Given the description of an element on the screen output the (x, y) to click on. 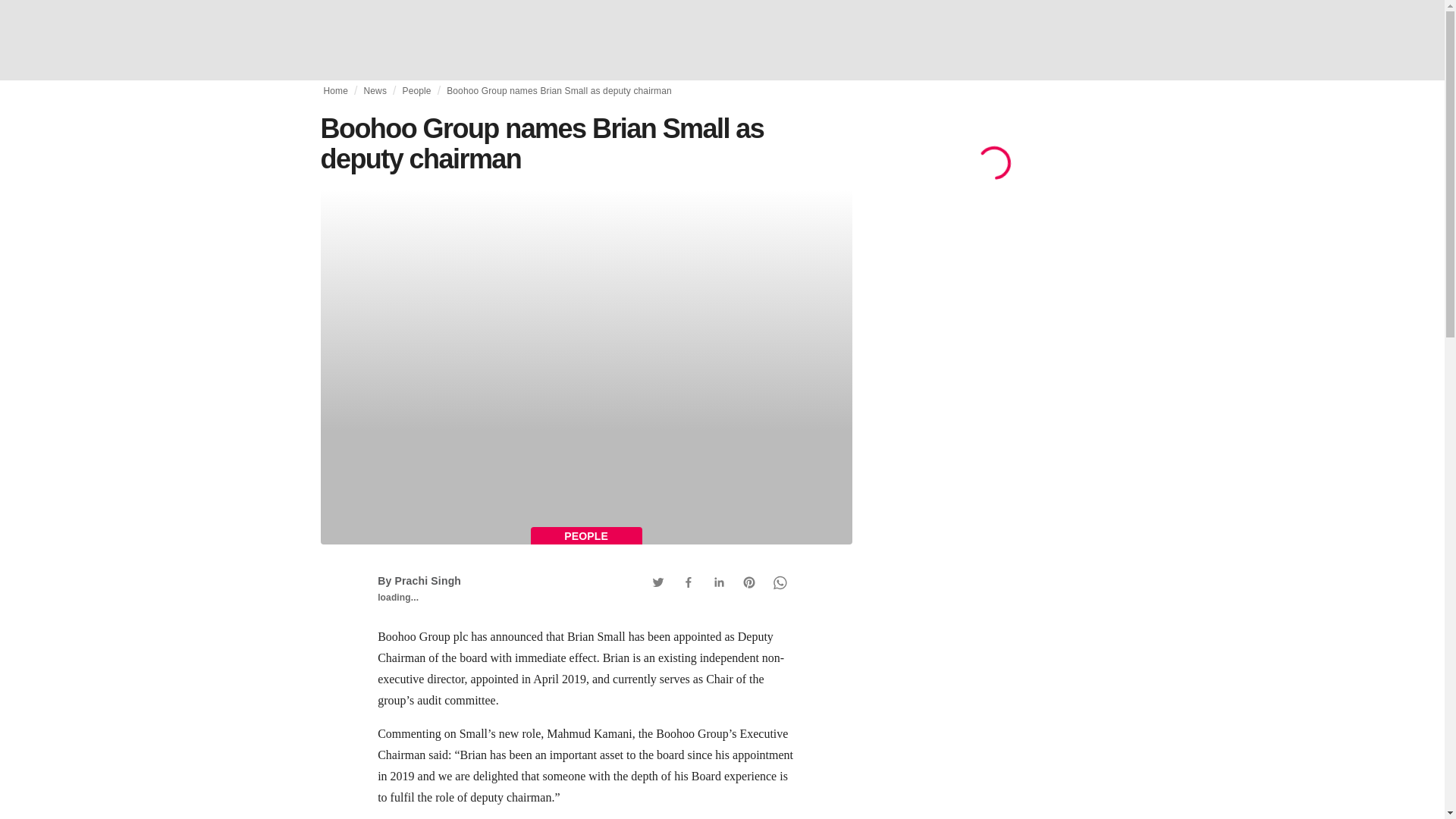
Boohoo Group names Brian Small as deputy chairman (558, 90)
News (375, 90)
Home (335, 90)
People (415, 90)
By Prachi Singh (419, 580)
